Given the description of an element on the screen output the (x, y) to click on. 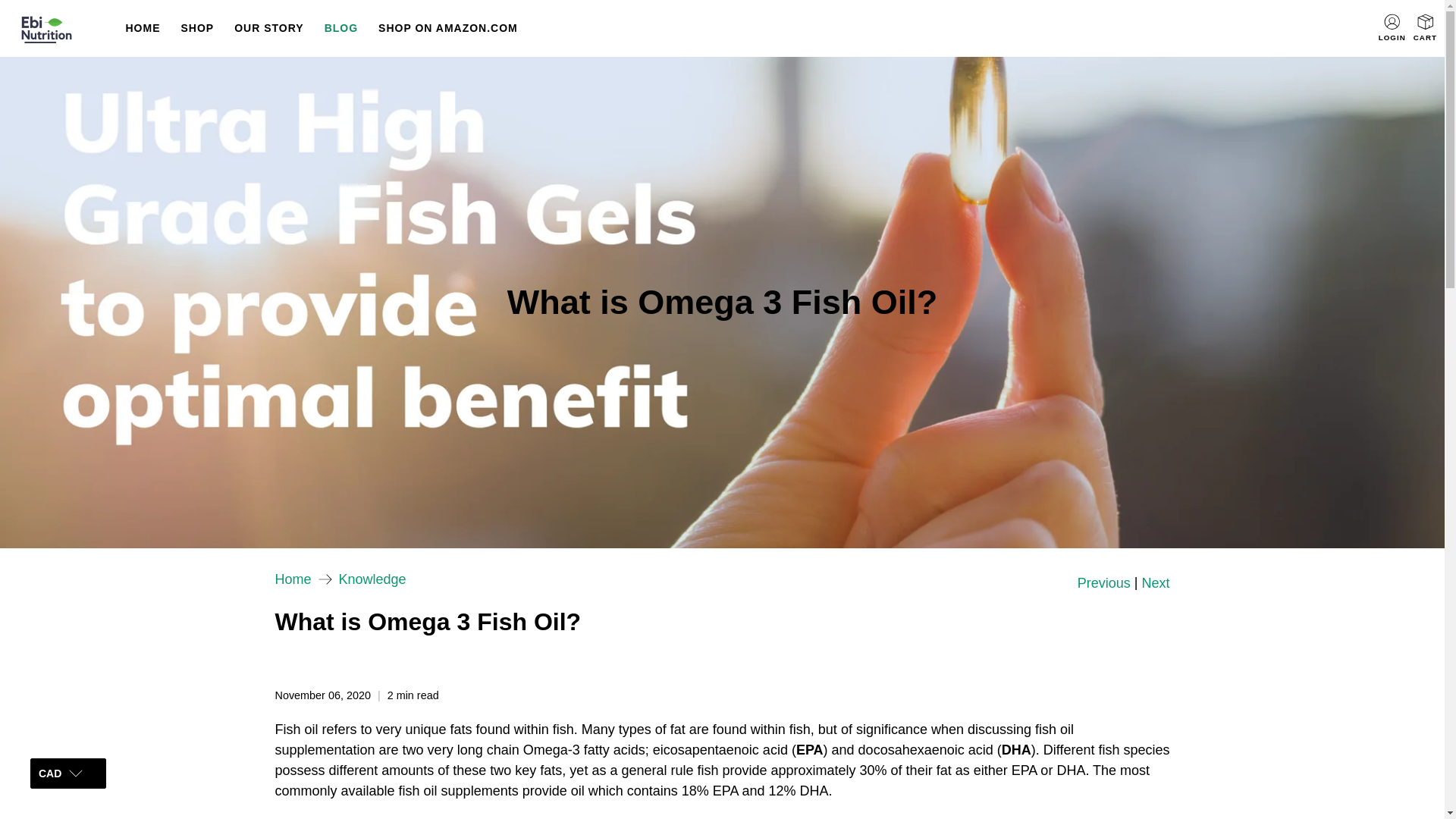
Previous (1104, 582)
CART (1425, 28)
HOME (142, 27)
EBI Nutrition (293, 579)
LOGIN (1391, 28)
SHOP ON AMAZON.COM (448, 27)
OUR STORY (269, 27)
Knowledge (372, 579)
BLOG (341, 27)
SHOP (197, 27)
Knowledge (372, 579)
Previous (1104, 582)
Next (1155, 582)
EBI Nutrition (60, 28)
Next (1155, 582)
